Given the description of an element on the screen output the (x, y) to click on. 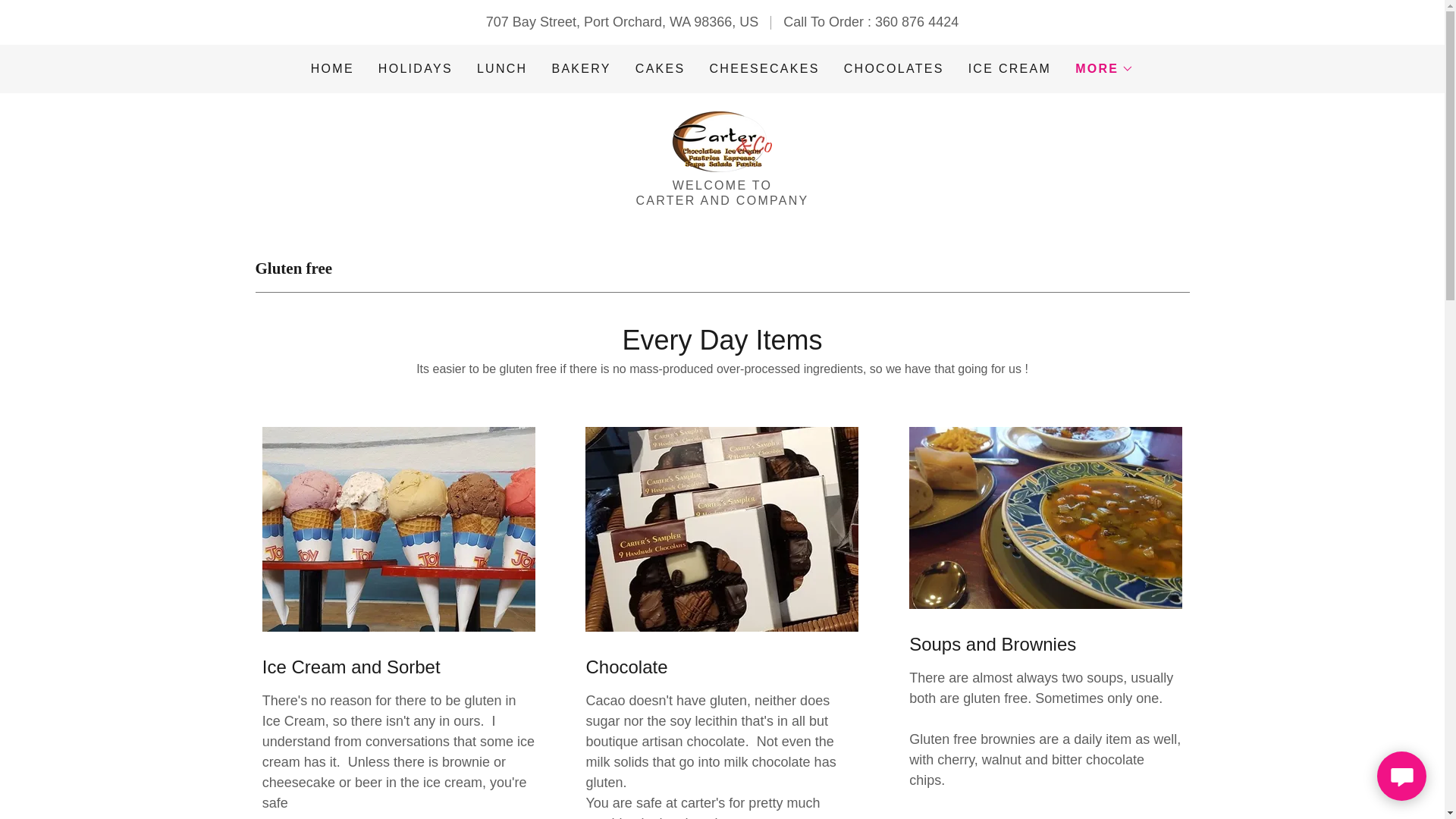
CarterAndCo (721, 140)
BAKERY (580, 68)
MORE (1104, 68)
CHOCOLATES (894, 68)
LUNCH (501, 68)
CHEESECAKES (764, 68)
HOLIDAYS (415, 68)
360 876 4424 (916, 21)
ICE CREAM (1010, 68)
HOME (331, 68)
CAKES (660, 68)
